Given the description of an element on the screen output the (x, y) to click on. 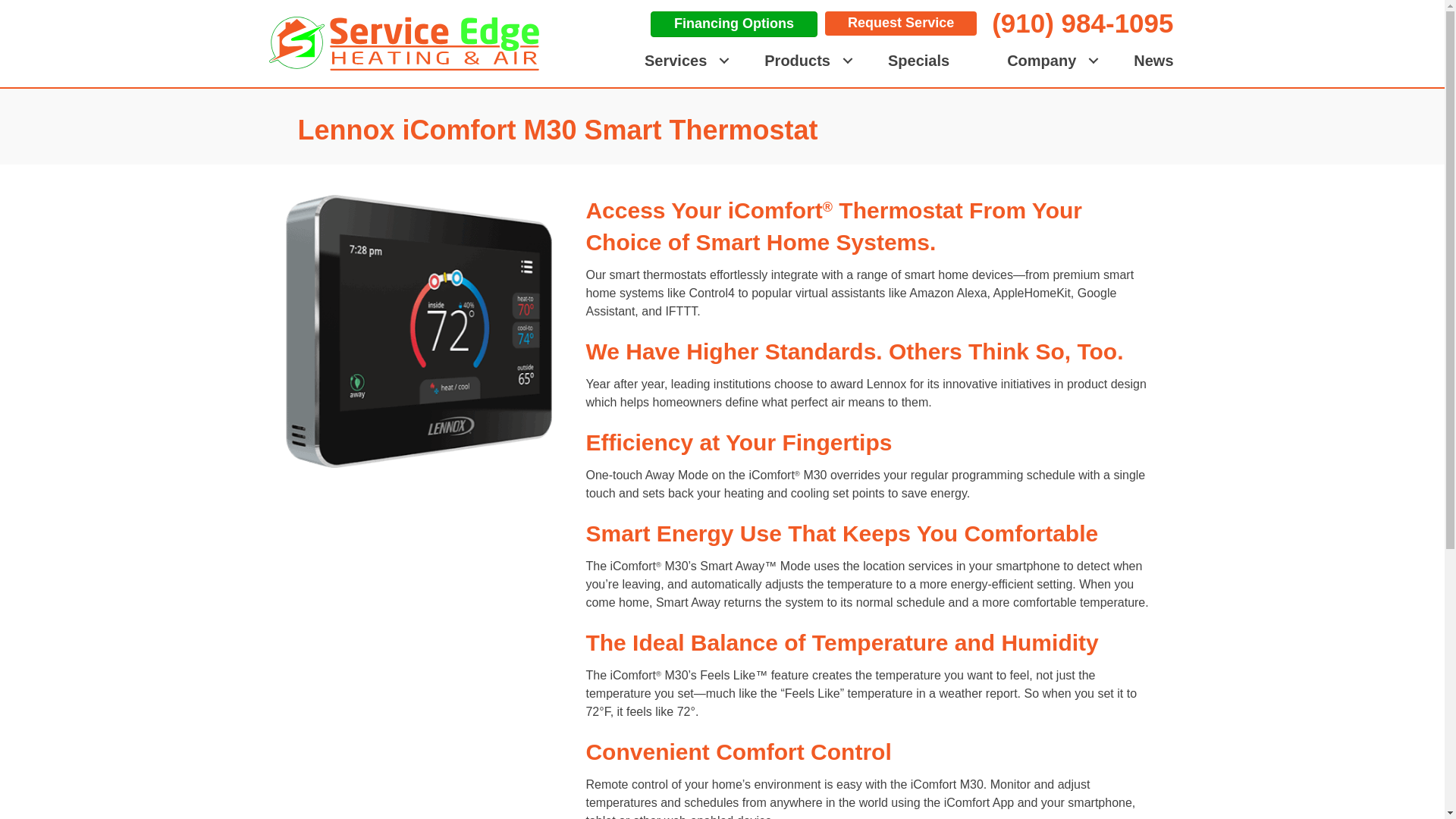
Specials (917, 60)
Financing Options (733, 23)
Company (1041, 60)
Services (675, 60)
Request Service (900, 23)
Products (797, 60)
